Given the description of an element on the screen output the (x, y) to click on. 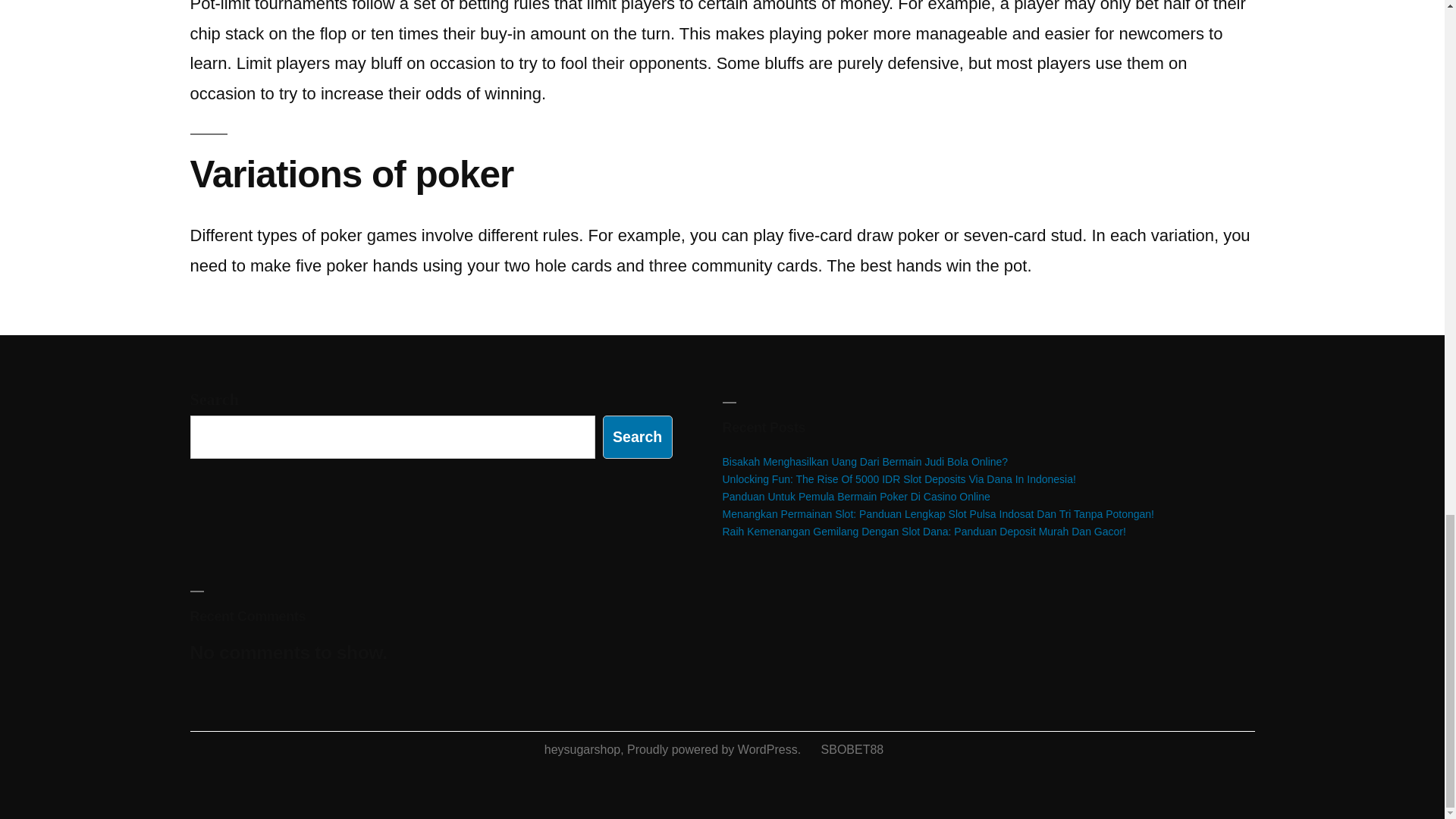
Proudly powered by WordPress. (716, 748)
SBOBET88 (852, 748)
Panduan Untuk Pemula Bermain Poker Di Casino Online (856, 496)
Search (637, 436)
heysugarshop (582, 748)
Bisakah Menghasilkan Uang Dari Bermain Judi Bola Online? (864, 461)
